Given the description of an element on the screen output the (x, y) to click on. 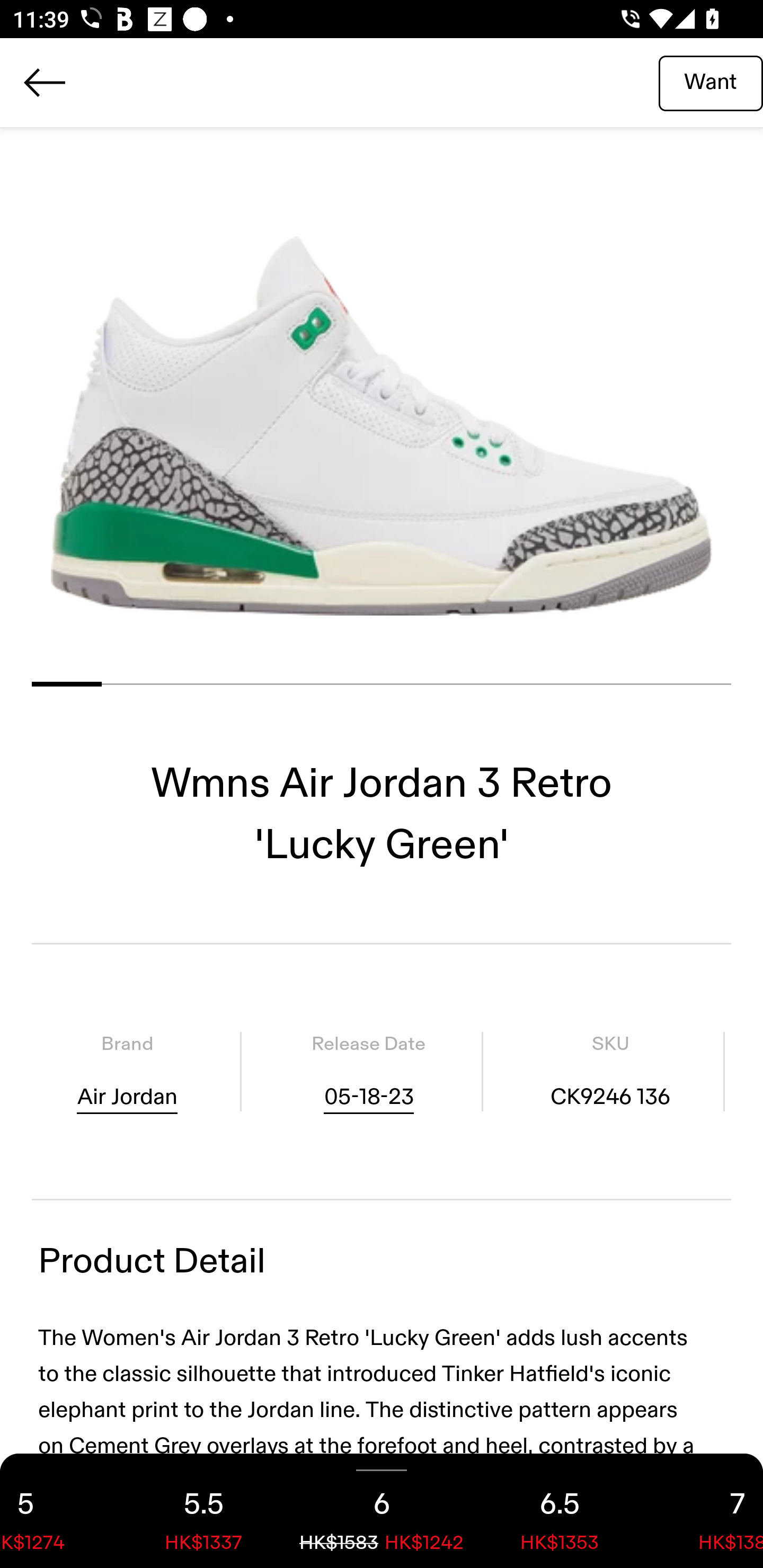
Want (710, 82)
Brand Air Jordan (126, 1070)
Release Date 05-18-23 (368, 1070)
SKU CK9246 136 (609, 1070)
5 HK$1274 (57, 1510)
5.5 HK$1337 (203, 1510)
6 HK$1583 HK$1242 (381, 1510)
6.5 HK$1353 (559, 1510)
7 HK$1385 (705, 1510)
